Given the description of an element on the screen output the (x, y) to click on. 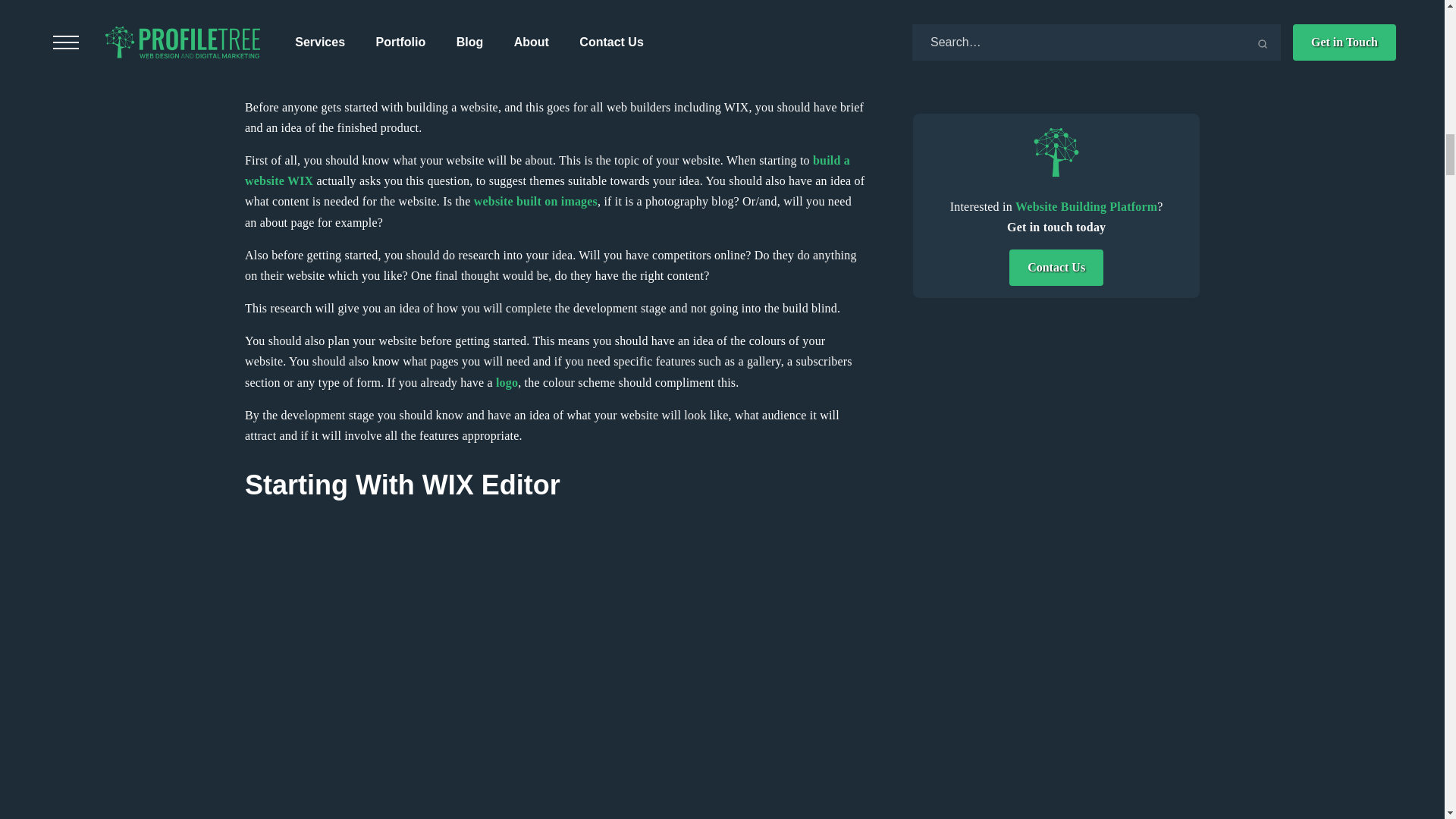
Wix Website: Build, Edit, Launch Guide (547, 170)
4 Best Free Image Website Builders (535, 201)
